Given the description of an element on the screen output the (x, y) to click on. 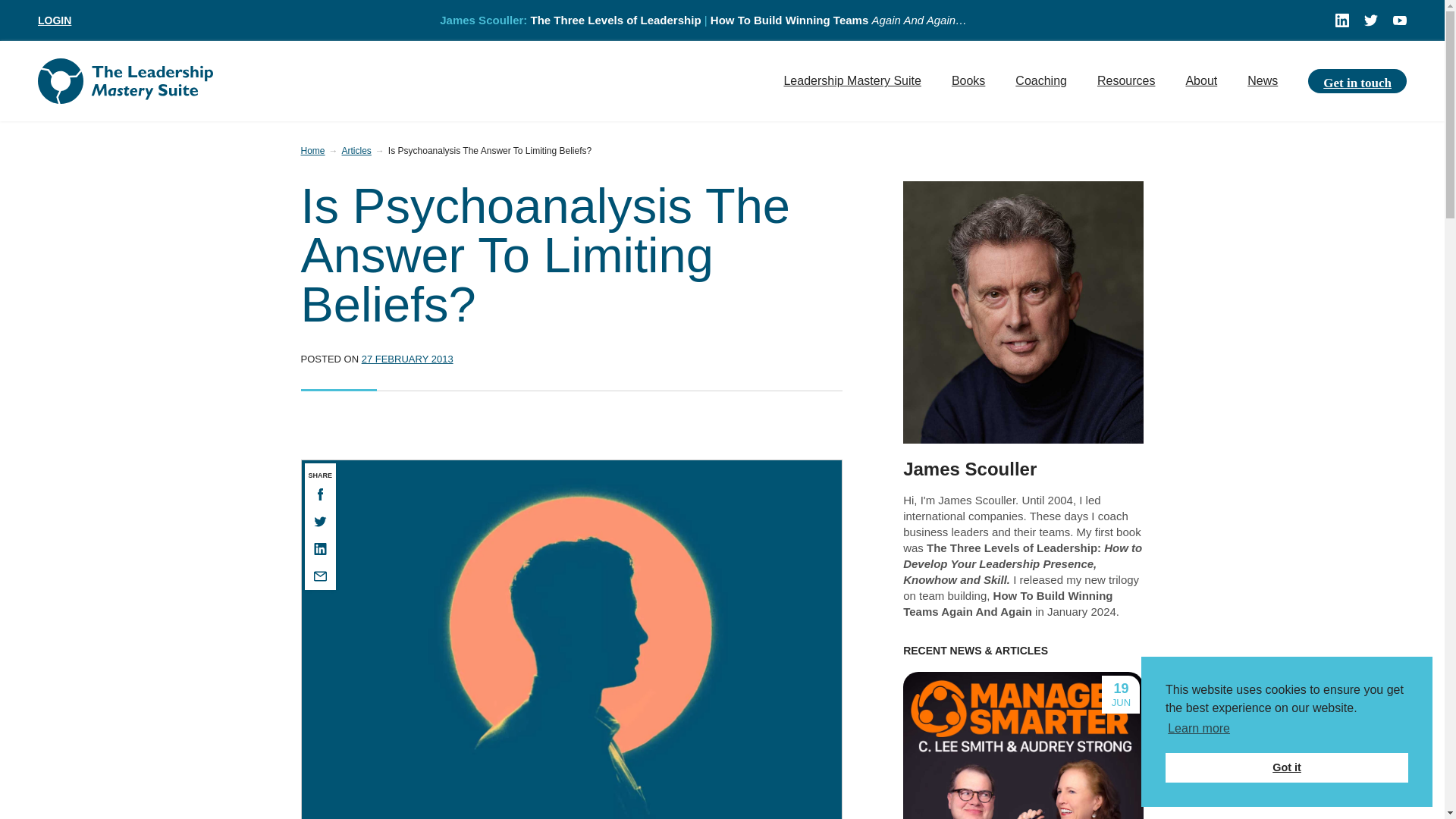
Books (968, 80)
Leadership Mastery Suite (852, 80)
Resources (1125, 80)
Coaching (1040, 80)
LOGIN (54, 20)
